Given the description of an element on the screen output the (x, y) to click on. 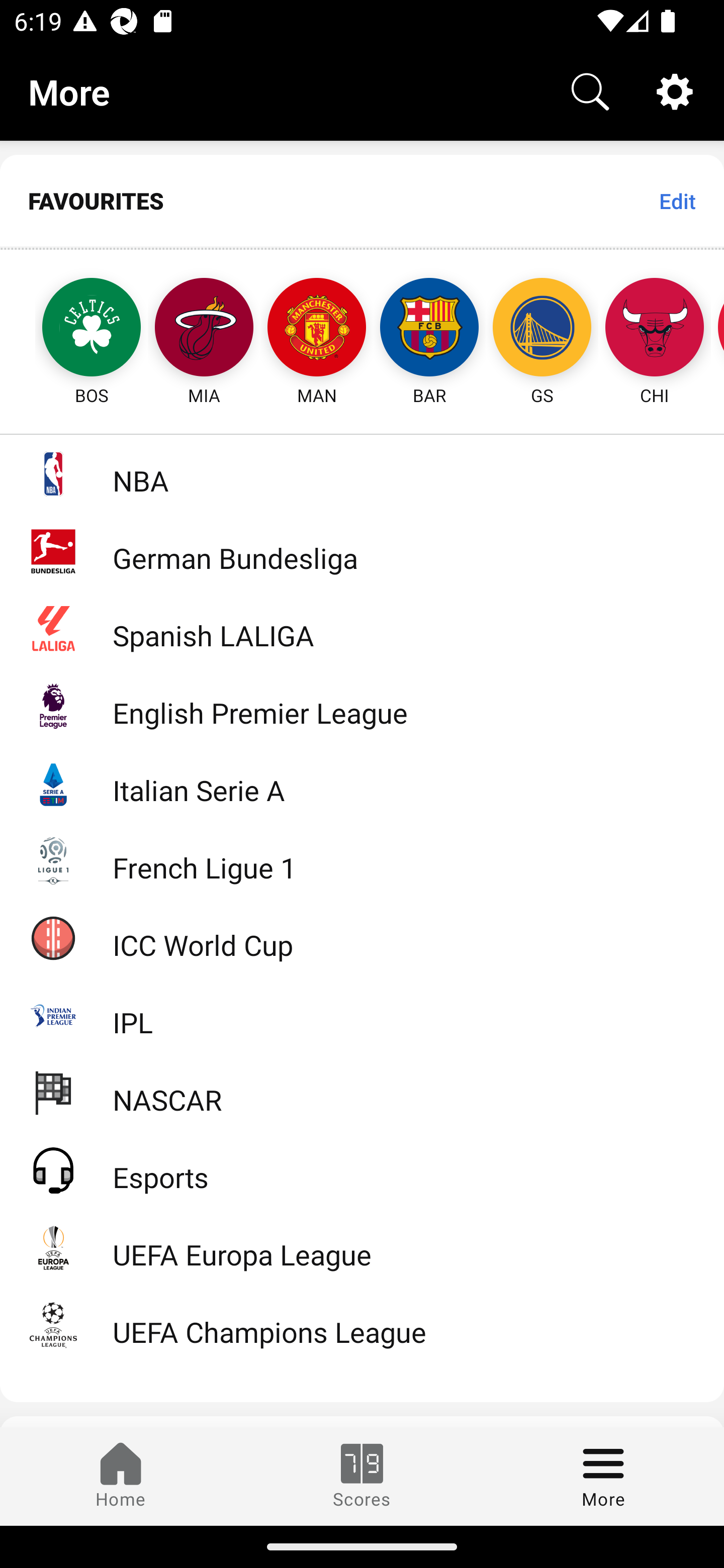
Search (590, 90)
Settings (674, 90)
Edit (676, 200)
BOS Boston Celtics (73, 328)
MIA Miami Heat (203, 328)
MAN Manchester United (316, 328)
BAR Barcelona (428, 328)
GS Golden State Warriors (541, 328)
CHI Chicago Bulls (654, 328)
NBA (362, 473)
German Bundesliga (362, 550)
Spanish LALIGA (362, 627)
English Premier League (362, 705)
Italian Serie A (362, 782)
French Ligue 1 (362, 859)
ICC World Cup (362, 937)
IPL (362, 1014)
NASCAR (362, 1091)
Esports (362, 1169)
UEFA Europa League (362, 1246)
UEFA Champions League (362, 1324)
Home (120, 1475)
Scores (361, 1475)
